Given the description of an element on the screen output the (x, y) to click on. 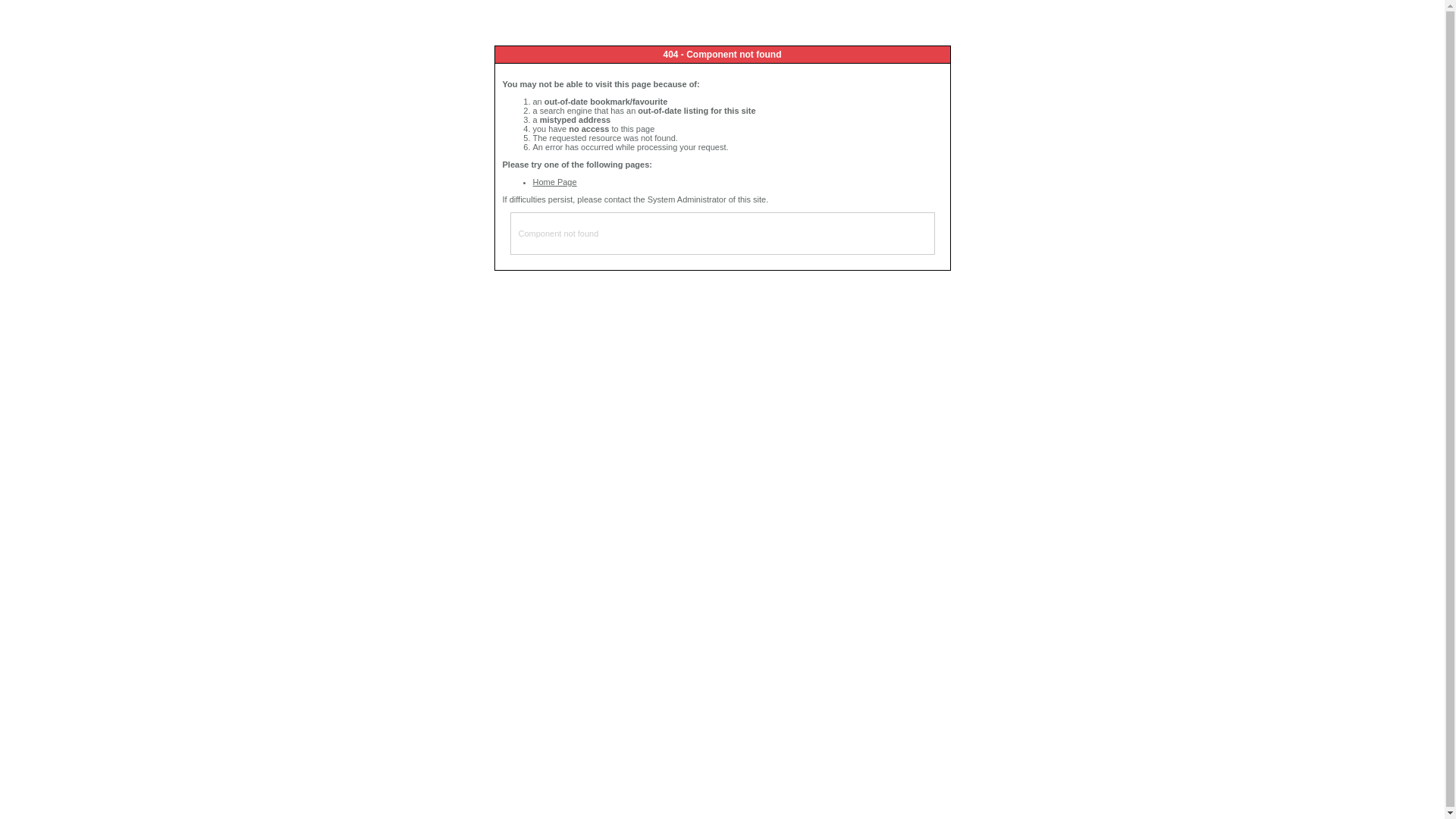
Home Page Element type: text (554, 181)
